Given the description of an element on the screen output the (x, y) to click on. 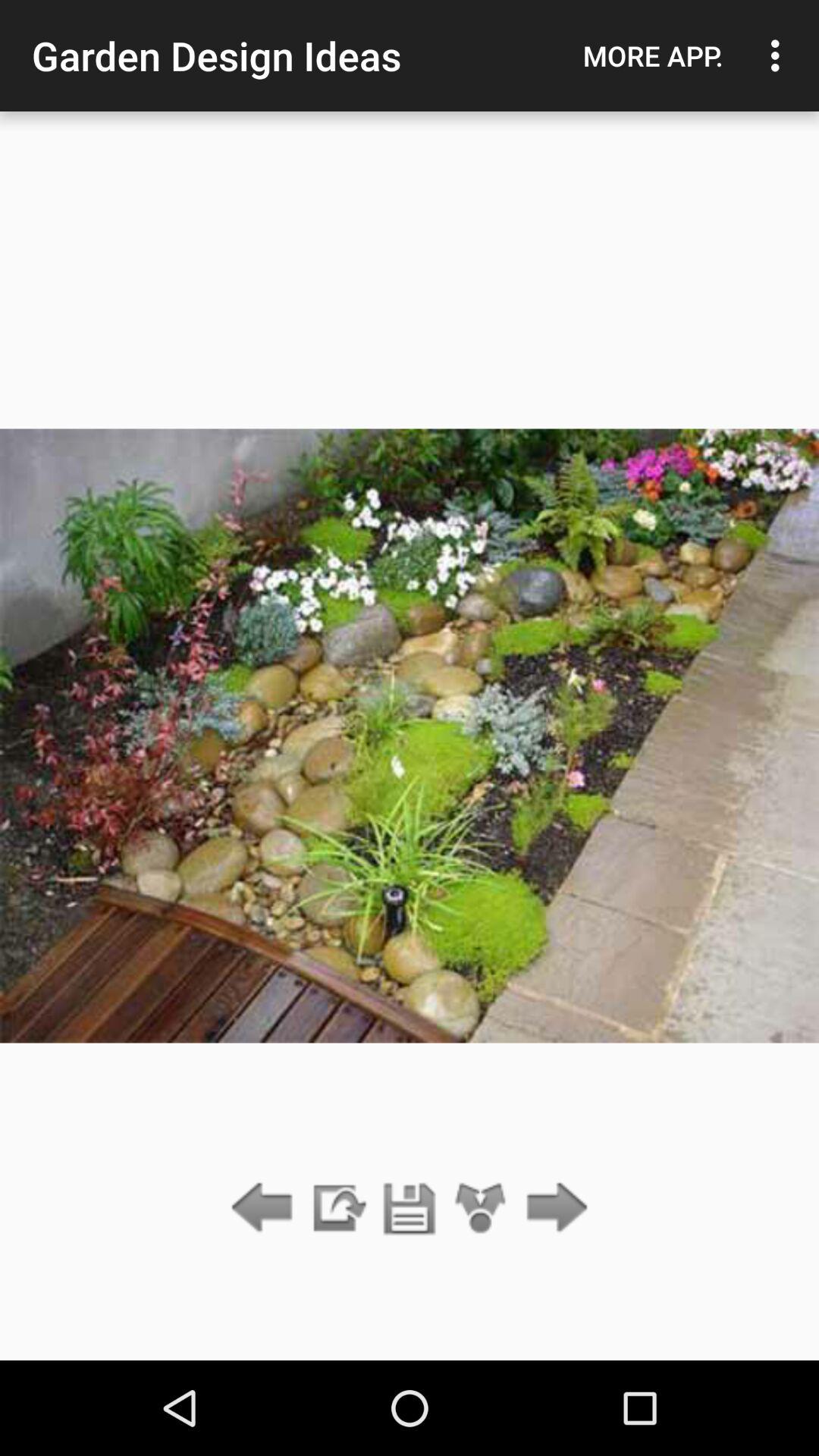
press icon below more app. icon (552, 1209)
